Given the description of an element on the screen output the (x, y) to click on. 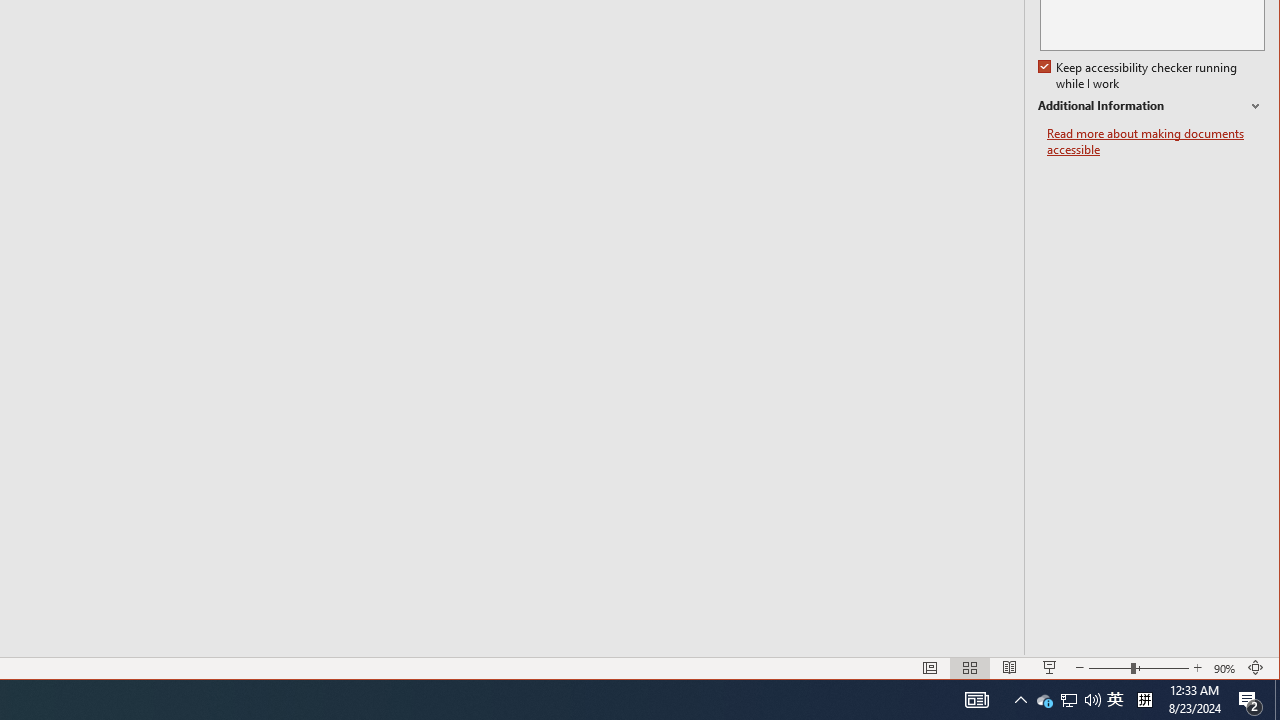
Additional Information (1069, 699)
